Given the description of an element on the screen output the (x, y) to click on. 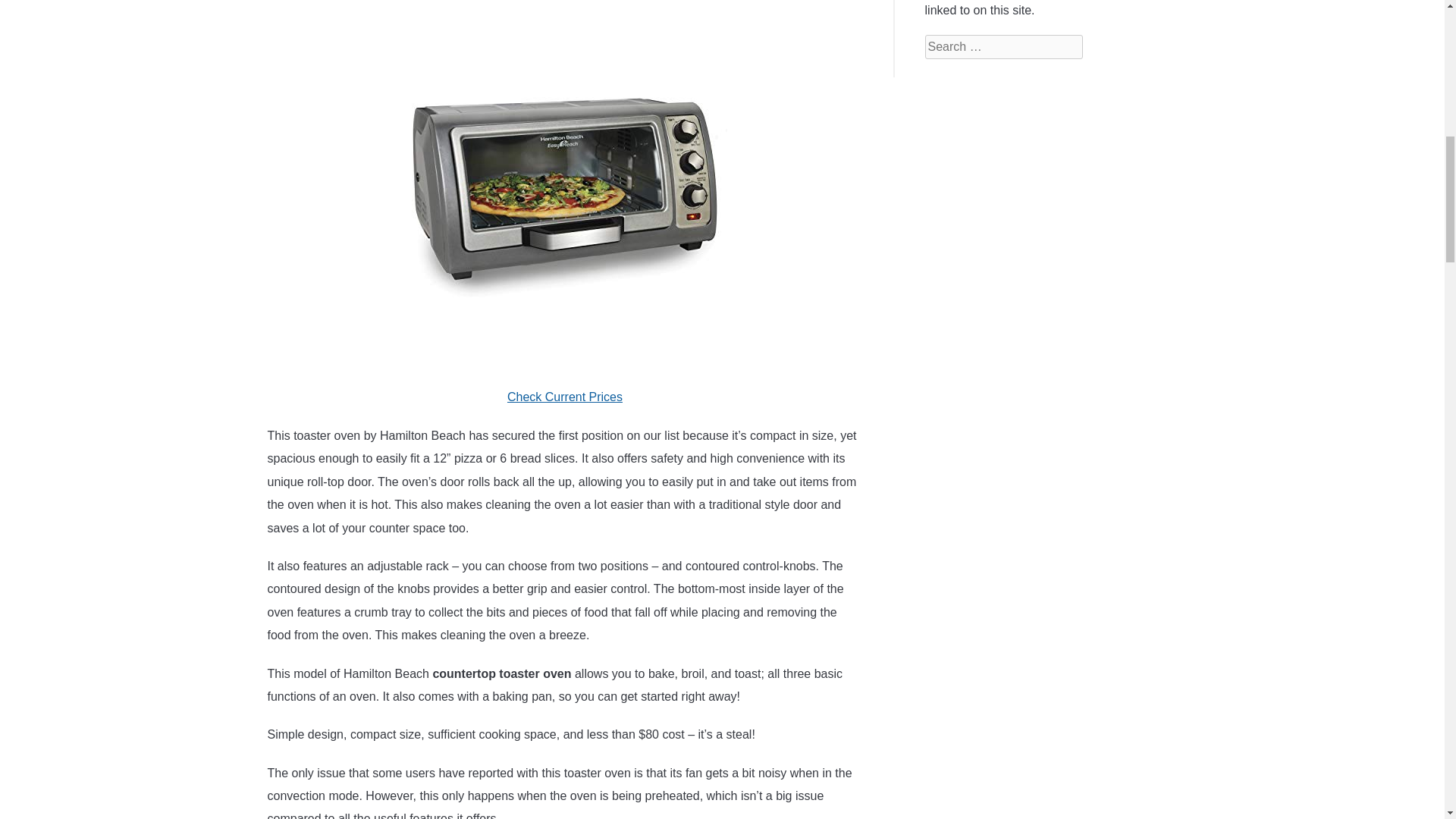
Check Current Prices (564, 396)
